Given the description of an element on the screen output the (x, y) to click on. 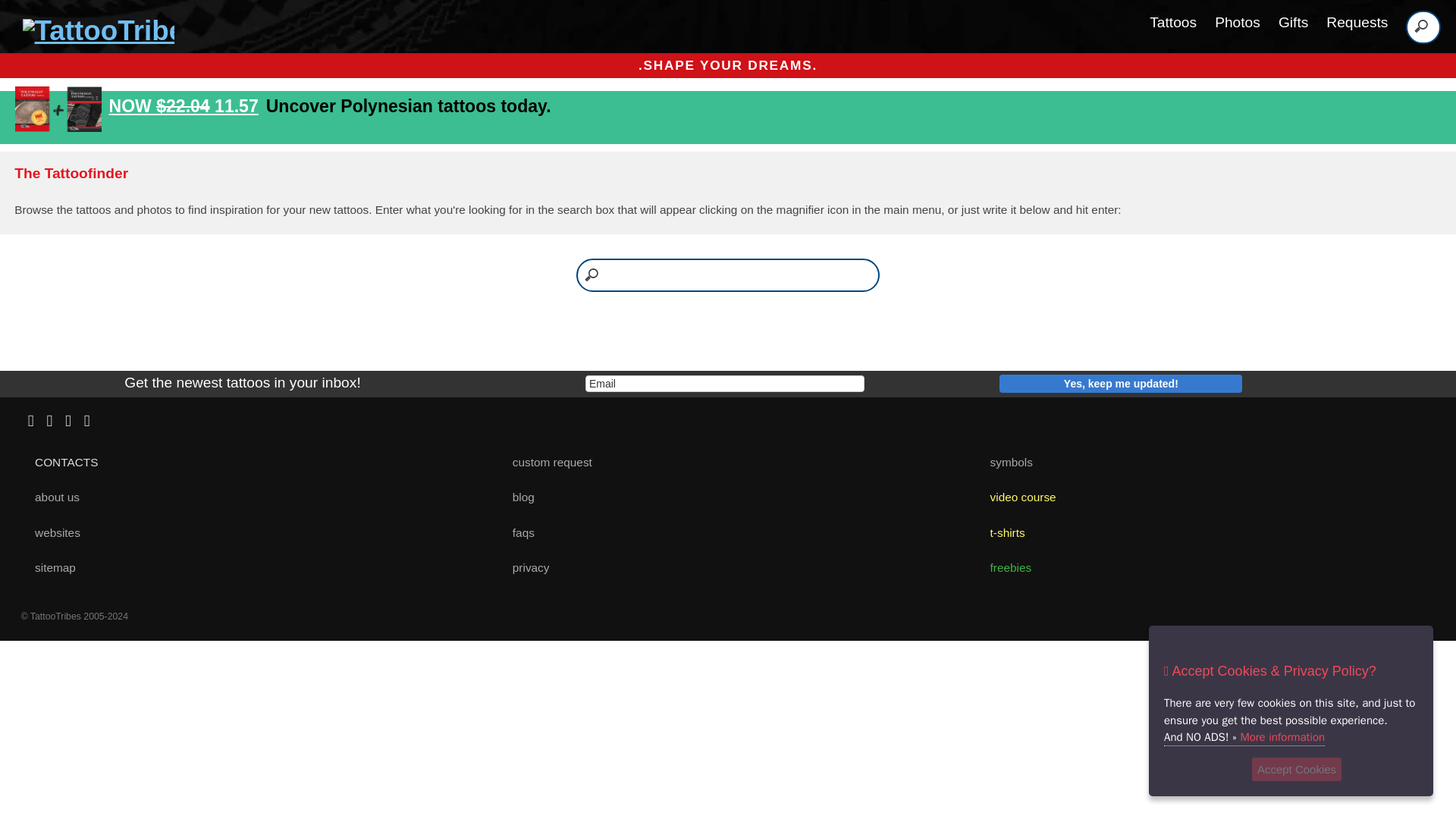
faqs (517, 532)
Privacy policy (524, 567)
Tattoo gift shop (1001, 532)
Polynesian tattoo symbols wiki (1005, 461)
Our websites (51, 532)
sitemap (49, 567)
blog (517, 496)
symbols (1005, 461)
Gifts (1292, 22)
about us (51, 496)
